Given the description of an element on the screen output the (x, y) to click on. 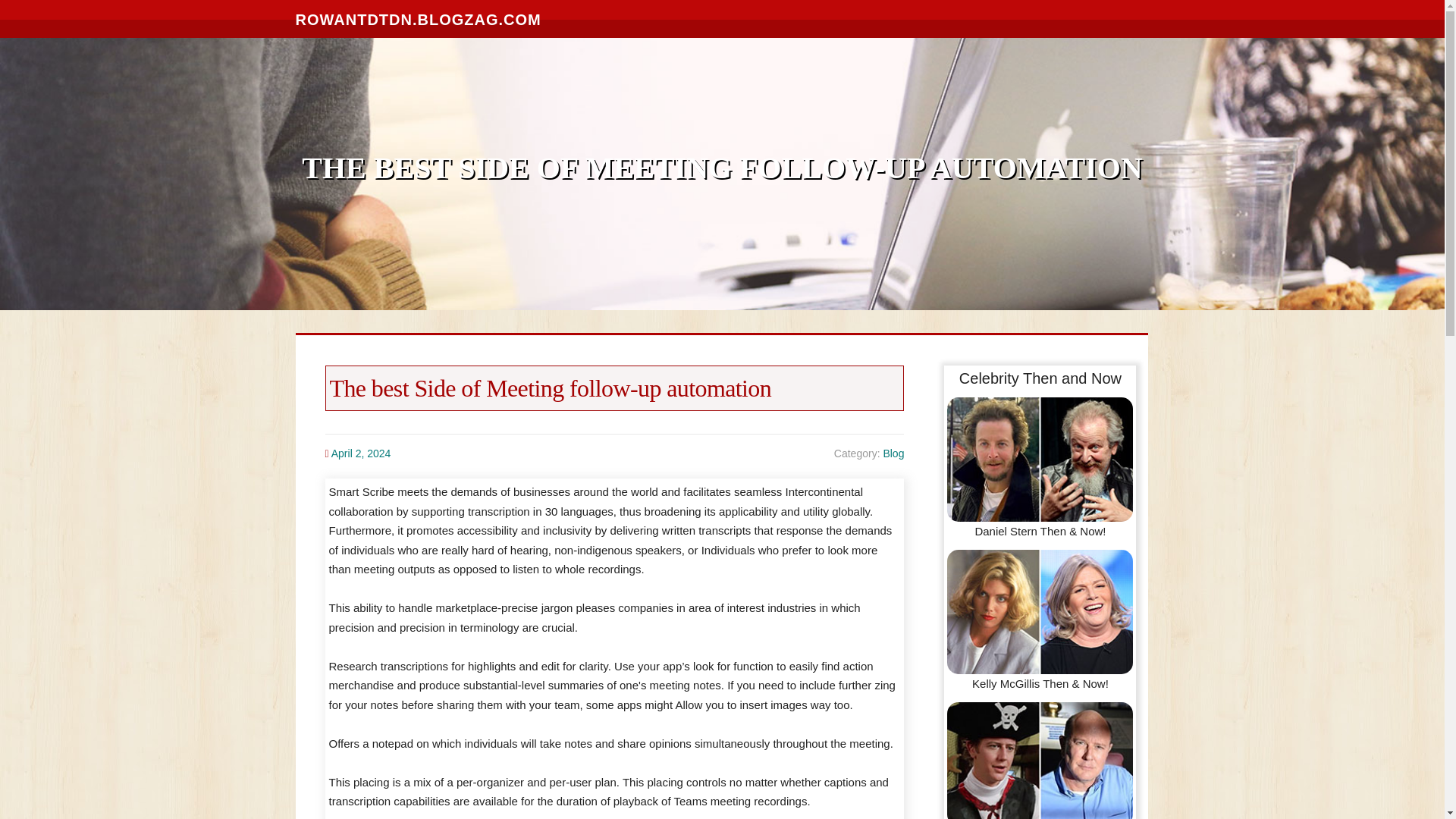
Skip to content (37, 9)
April 2, 2024 (361, 453)
Blog (893, 453)
ROWANTDTDN.BLOGZAG.COM (418, 18)
